Given the description of an element on the screen output the (x, y) to click on. 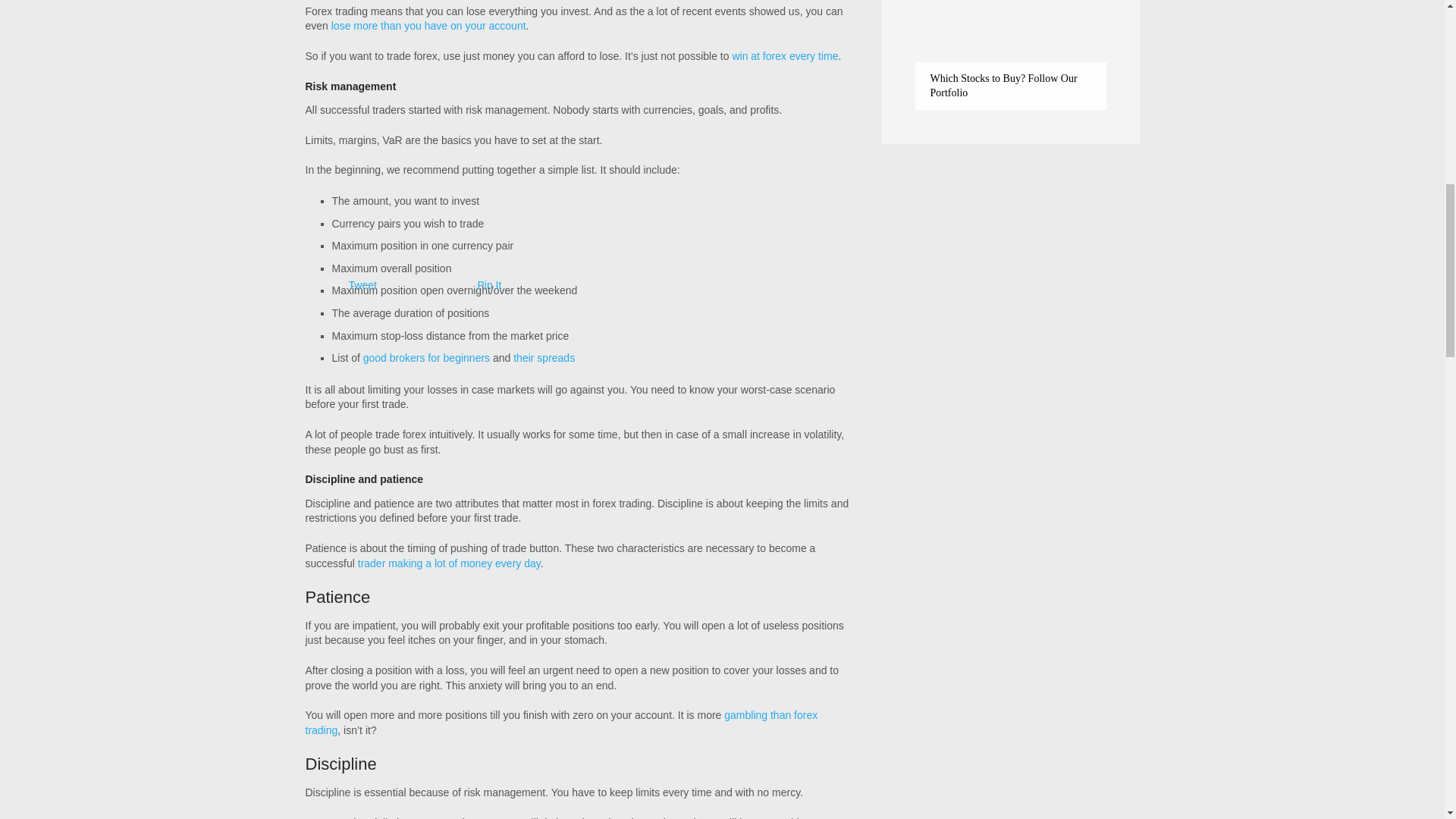
gambling than forex trading (560, 722)
win at forex every time (785, 55)
good brokers for beginners (425, 357)
trader making a lot of money every day (449, 562)
their spreads (544, 357)
lose more than you have on your account (428, 25)
